Given the description of an element on the screen output the (x, y) to click on. 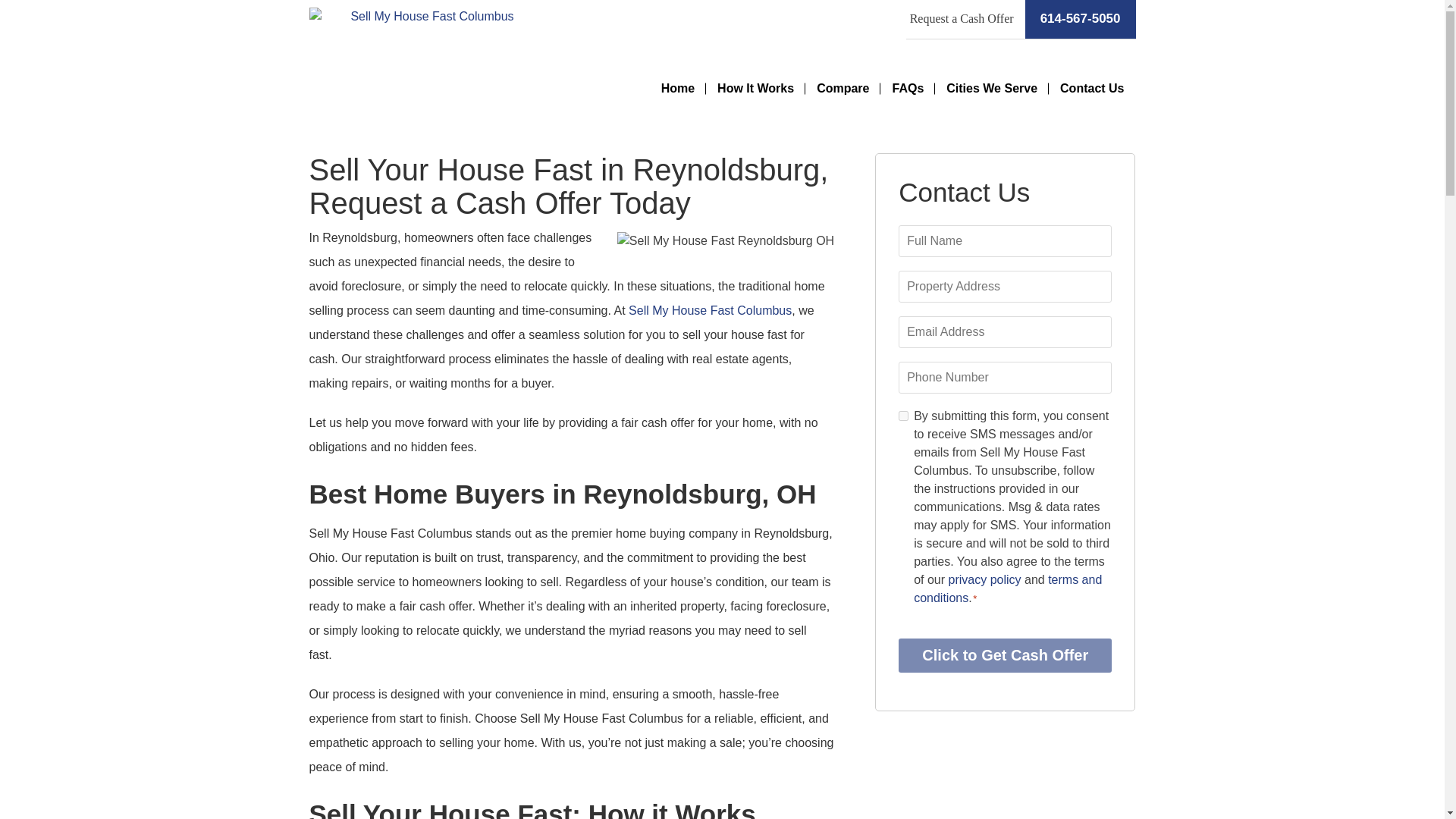
Click to Get Cash Offer (1005, 655)
terms and conditions (1008, 588)
FAQs (907, 88)
Home (677, 88)
How It Works (755, 88)
Compare (842, 88)
Contact Us (1091, 88)
Click to Get Cash Offer (1005, 655)
Cities We Serve (991, 88)
privacy policy (987, 579)
614-567-5050 (1080, 19)
Sell My House Fast Columbus (710, 309)
